Given the description of an element on the screen output the (x, y) to click on. 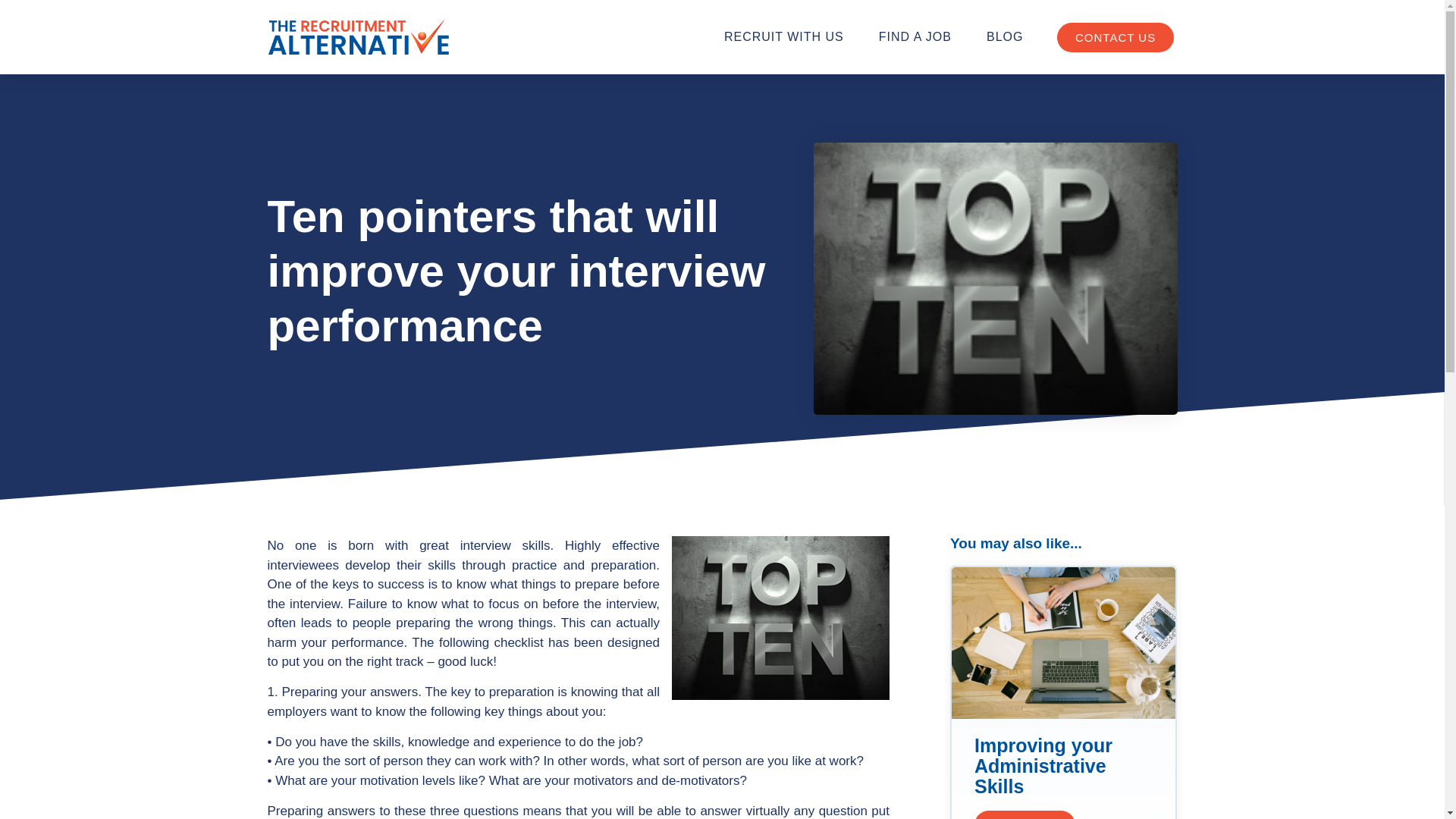
BLOG (1004, 36)
CONTACT US (1115, 37)
READ NOW (1024, 814)
Improving your Administrative Skills (1043, 765)
FIND A JOB (914, 36)
RECRUIT WITH US (784, 36)
